Given the description of an element on the screen output the (x, y) to click on. 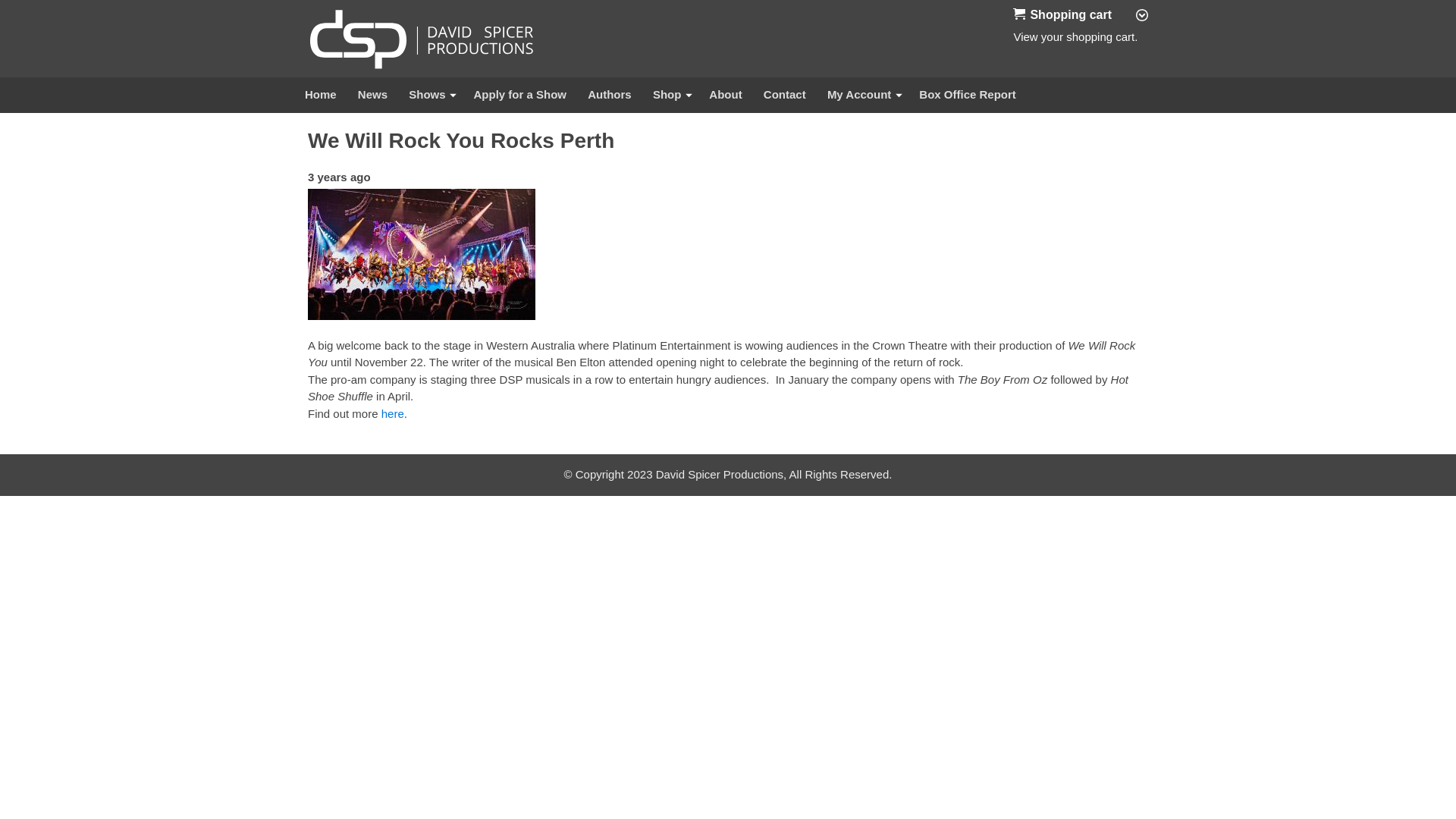
Shows Element type: text (430, 94)
Shop Element type: text (669, 94)
DSP Element type: hover (421, 38)
Apply for a Show Element type: text (520, 94)
Contact Element type: text (784, 94)
here Element type: text (392, 413)
My Account Element type: text (862, 94)
Authors Element type: text (609, 94)
About Element type: text (724, 94)
News Element type: text (372, 94)
Home Element type: text (320, 94)
View your shopping cart. Element type: hover (1019, 13)
View Element type: text (1025, 36)
Box Office Report Element type: text (967, 94)
